Given the description of an element on the screen output the (x, y) to click on. 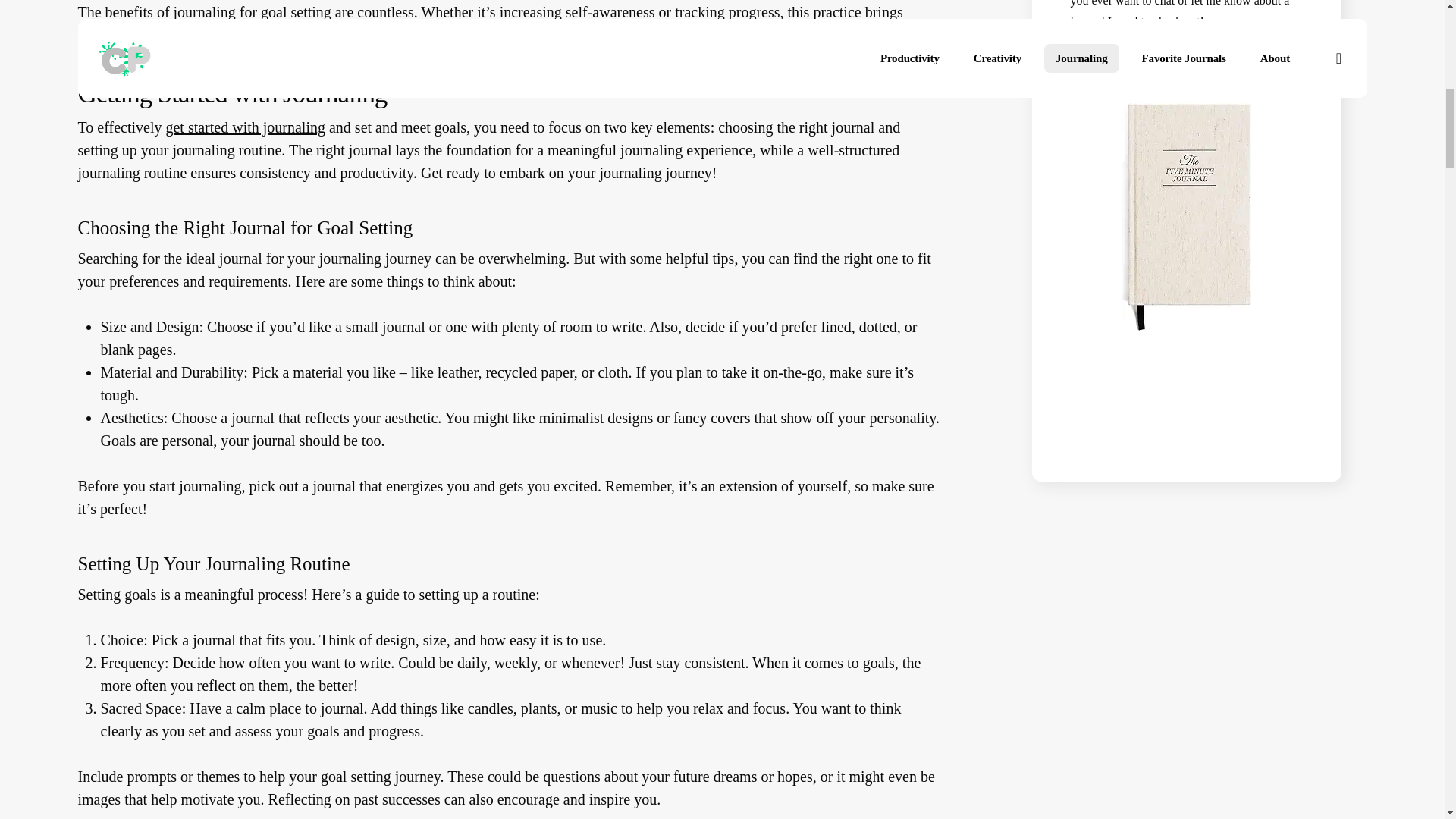
get started with journaling (244, 165)
